Given the description of an element on the screen output the (x, y) to click on. 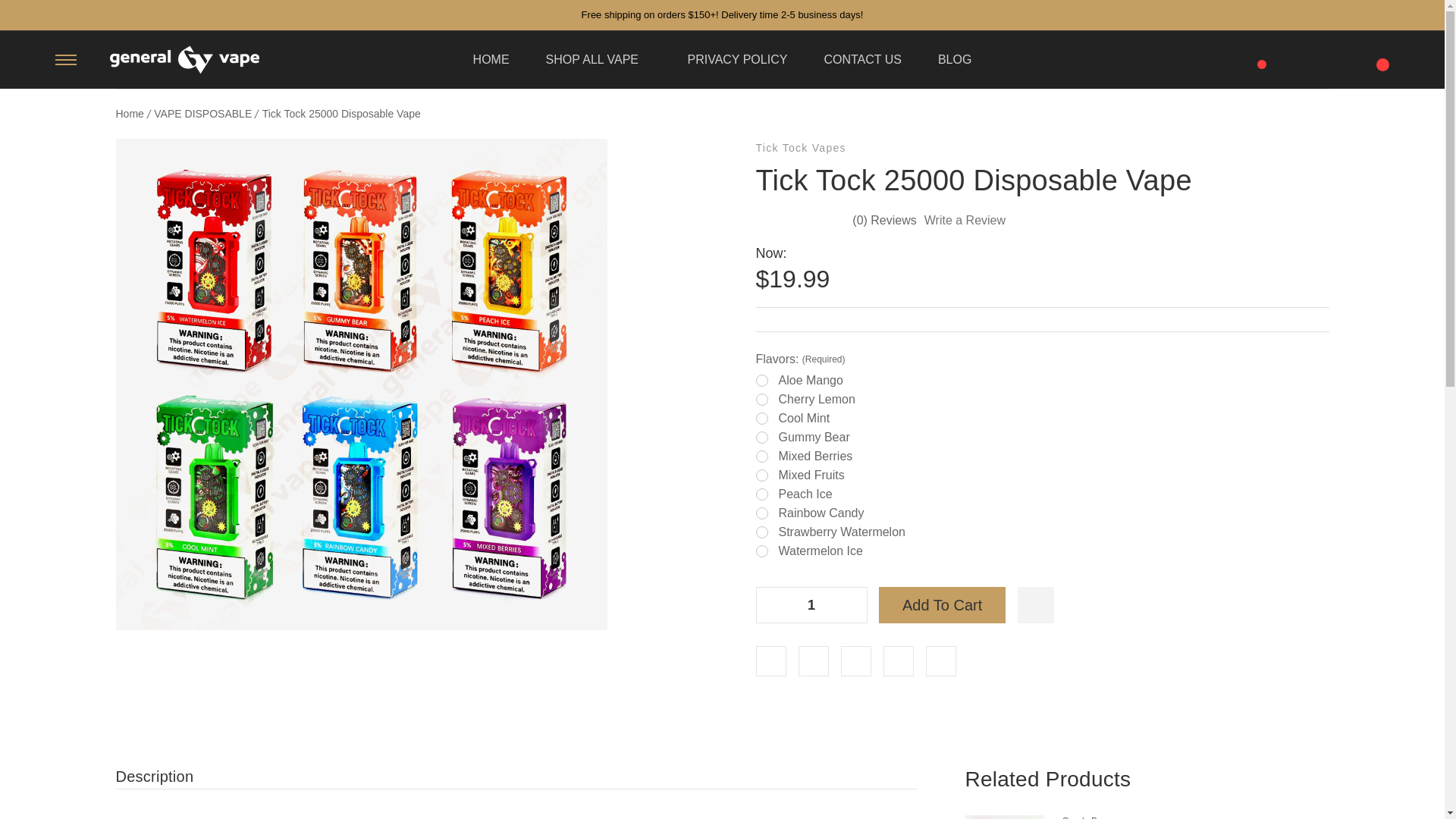
Print (855, 661)
1 (811, 605)
Pinterest (939, 661)
CONTACT US (862, 59)
General Vape (183, 60)
Email (812, 661)
Twitter (897, 661)
